Given the description of an element on the screen output the (x, y) to click on. 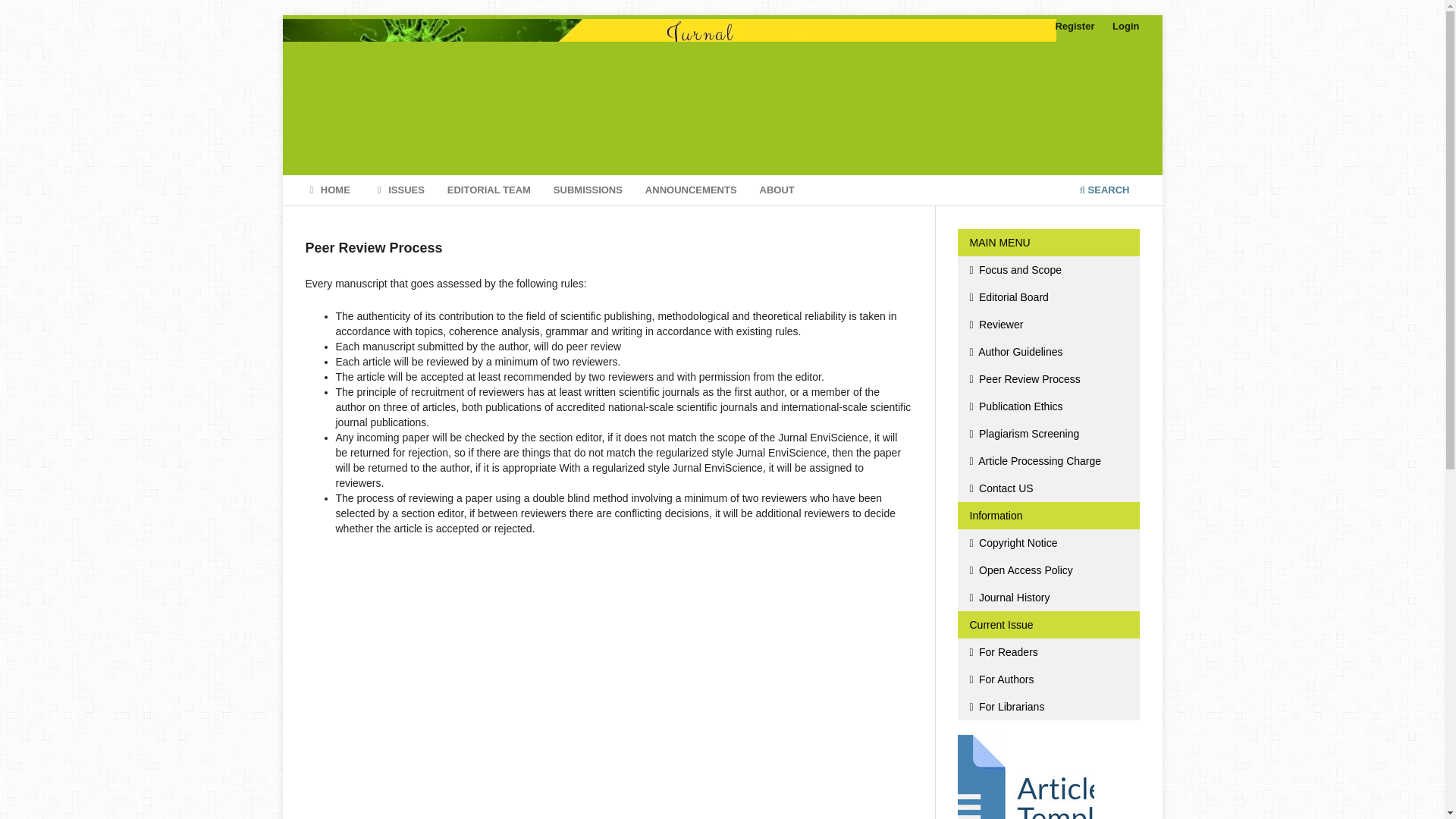
Focus and Scope (1047, 269)
  Reviewer (1047, 324)
  Copyright Notice (1047, 542)
  Editorial Board (1047, 297)
  Article Processing Charge (1047, 461)
  Publication Ethics (1047, 406)
  Focus and Scope (1047, 269)
  Open Access Policy (1047, 569)
For Readers (1047, 651)
Copyright Notice  (1047, 542)
